Given the description of an element on the screen output the (x, y) to click on. 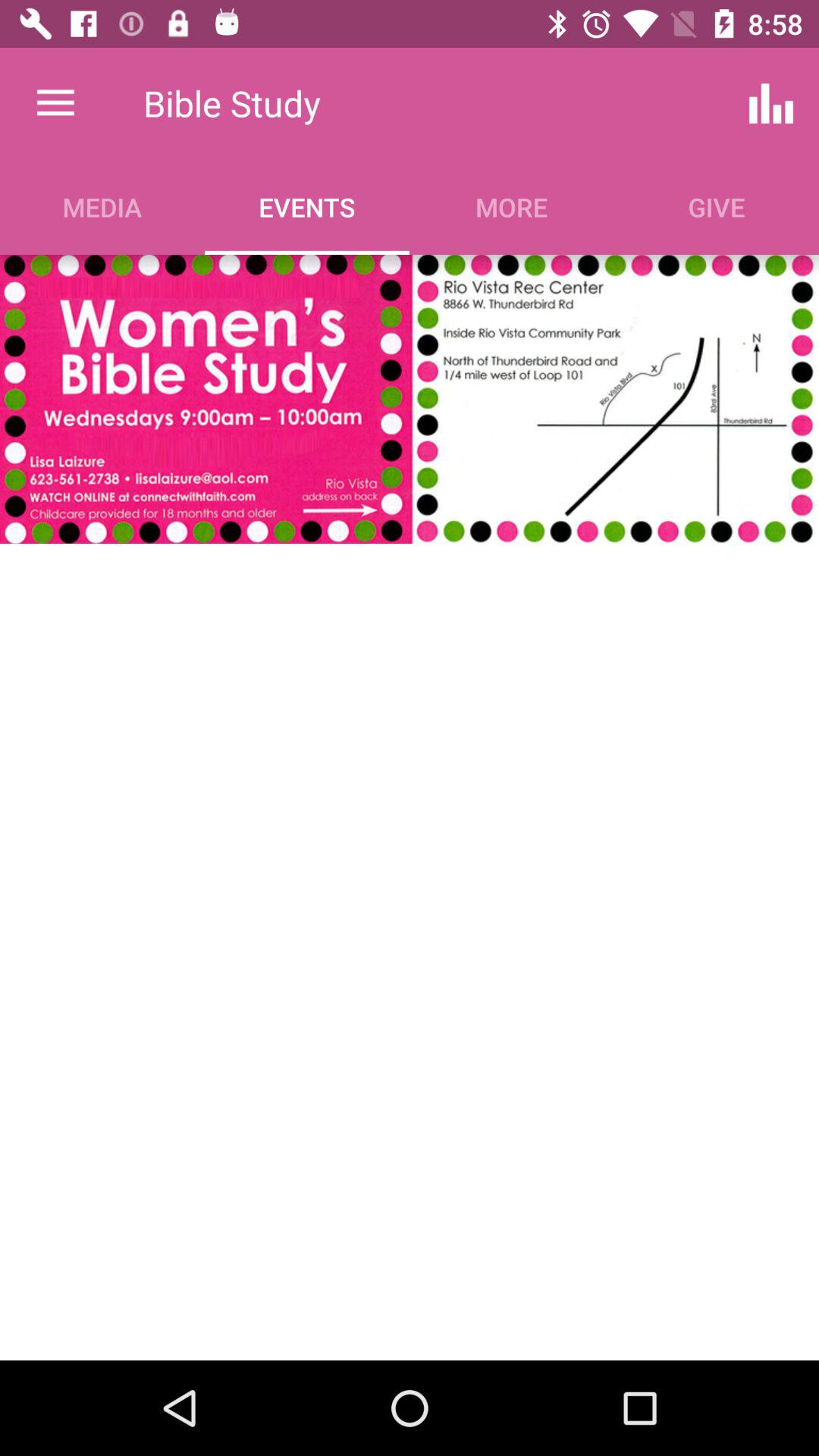
open icon next to more (771, 103)
